Given the description of an element on the screen output the (x, y) to click on. 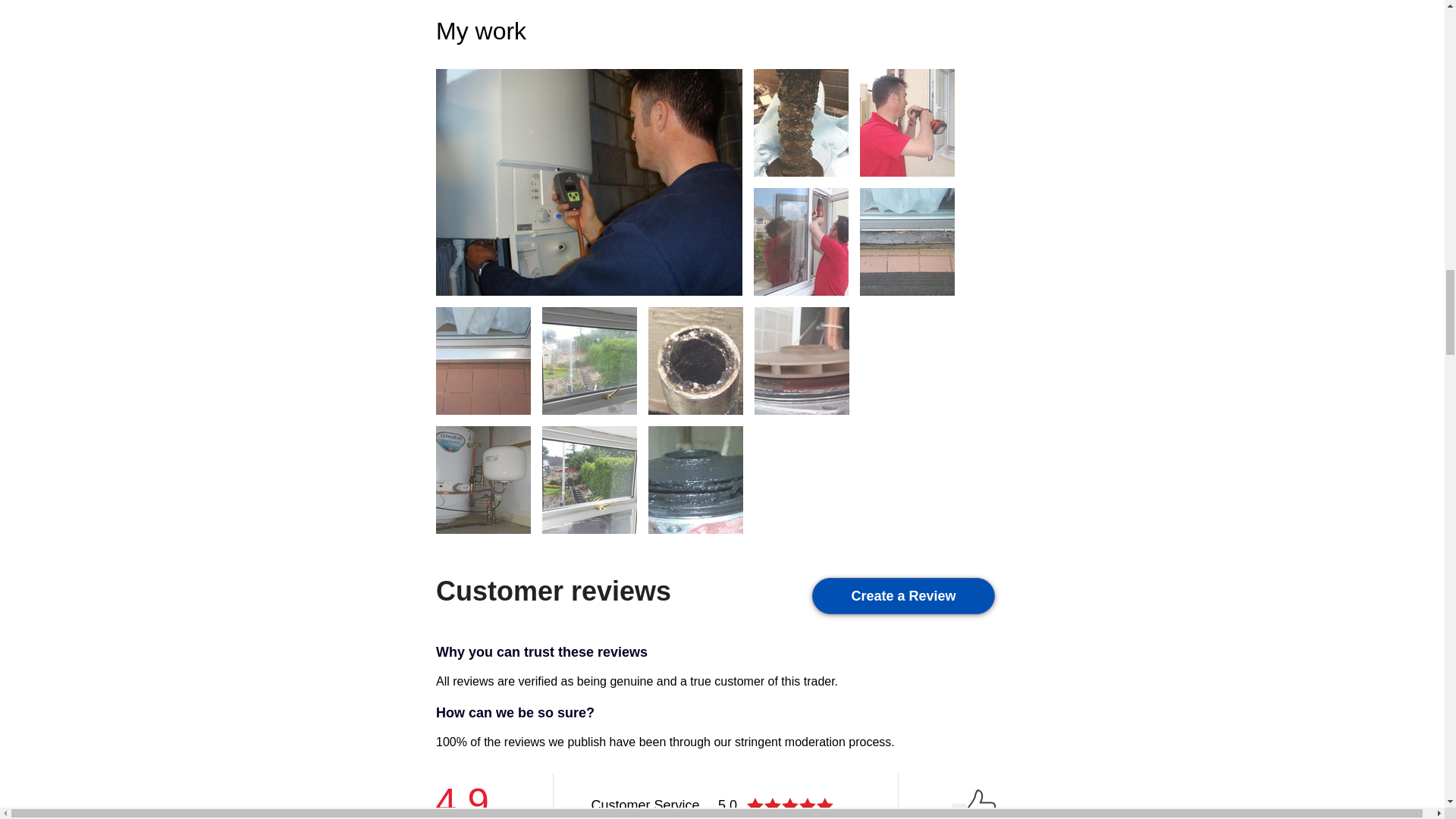
System need a power flush! (694, 359)
sludgy pump Needs Power Flushing  (694, 479)
Window Locks Repaired (907, 122)
The Circulation Pump As It Should Be.  (801, 359)
Problem with rotting sill (907, 241)
Window hinges repaired (801, 241)
Boiler checks. (588, 181)
Unvented Cylinder.jpg (483, 479)
4.9523809523809526 (791, 805)
Water tight aluminium sill cloaking (483, 359)
